Given the description of an element on the screen output the (x, y) to click on. 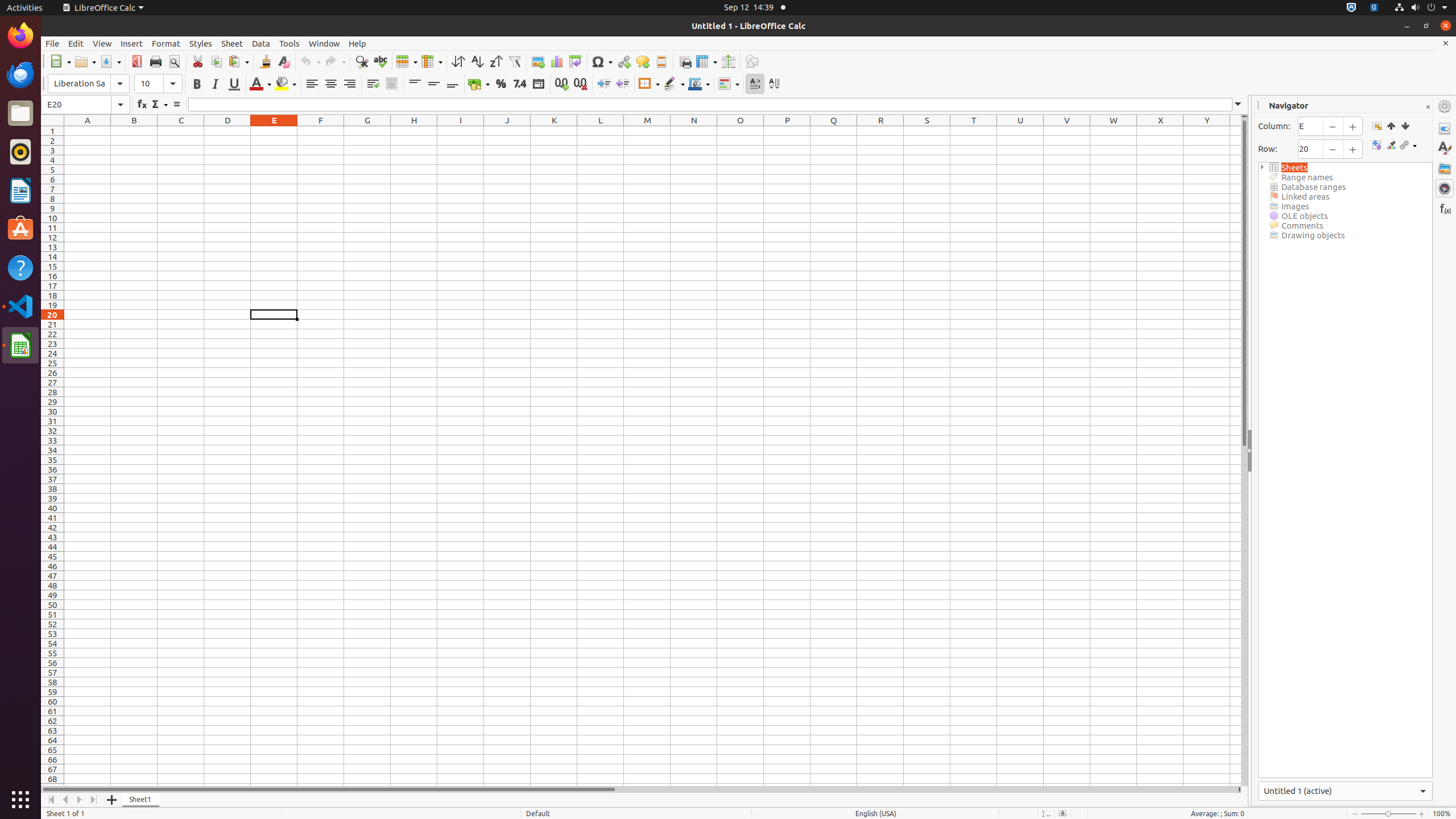
Tools Element type: menu (289, 43)
S1 Element type: table-cell (926, 130)
Italic Element type: toggle-button (214, 83)
F1 Element type: table-cell (320, 130)
Underline Element type: push-button (233, 83)
